Given the description of an element on the screen output the (x, y) to click on. 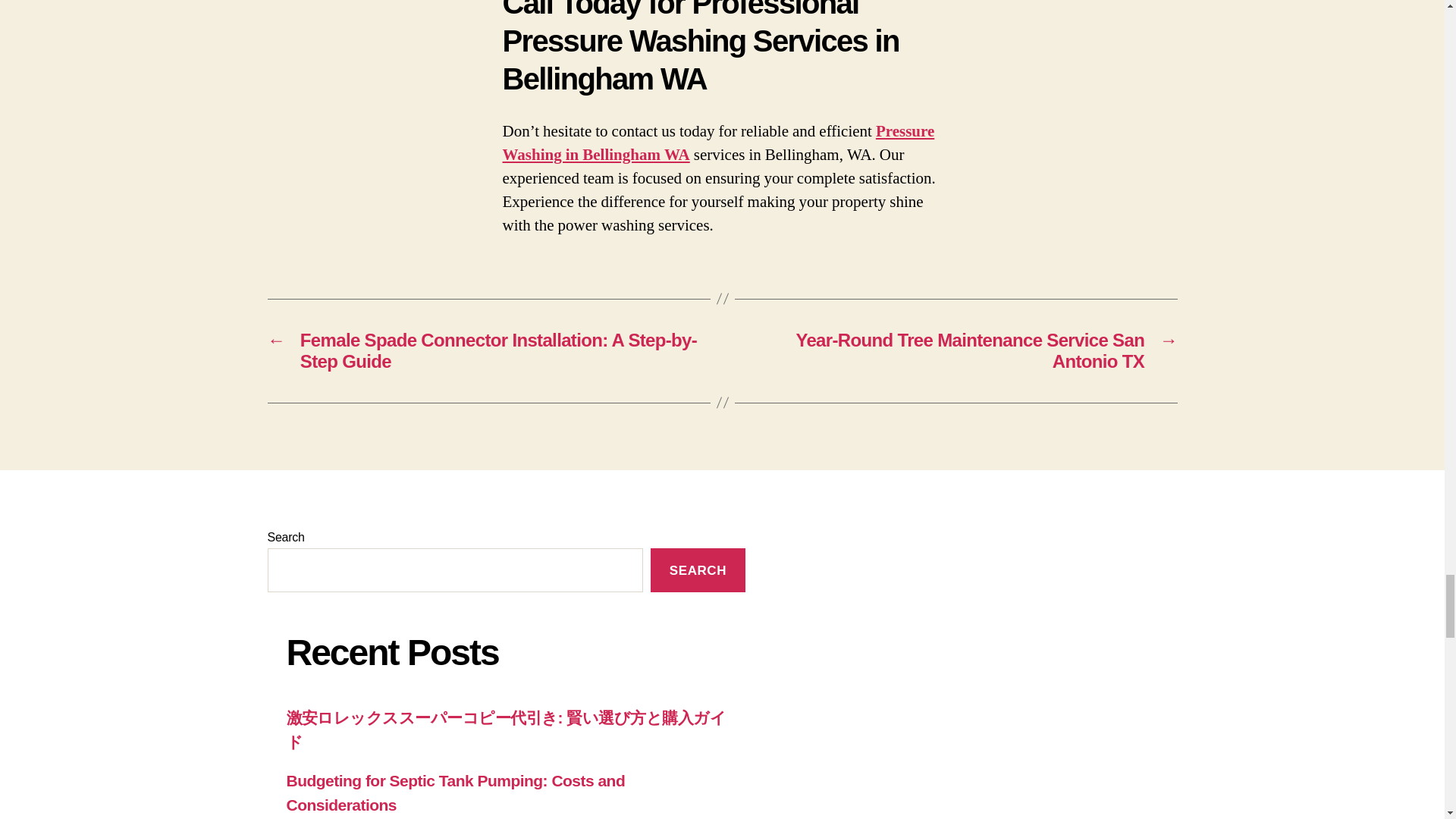
SEARCH (697, 569)
Budgeting for Septic Tank Pumping: Costs and Considerations (456, 793)
Pressure Washing in Bellingham WA (718, 143)
